Given the description of an element on the screen output the (x, y) to click on. 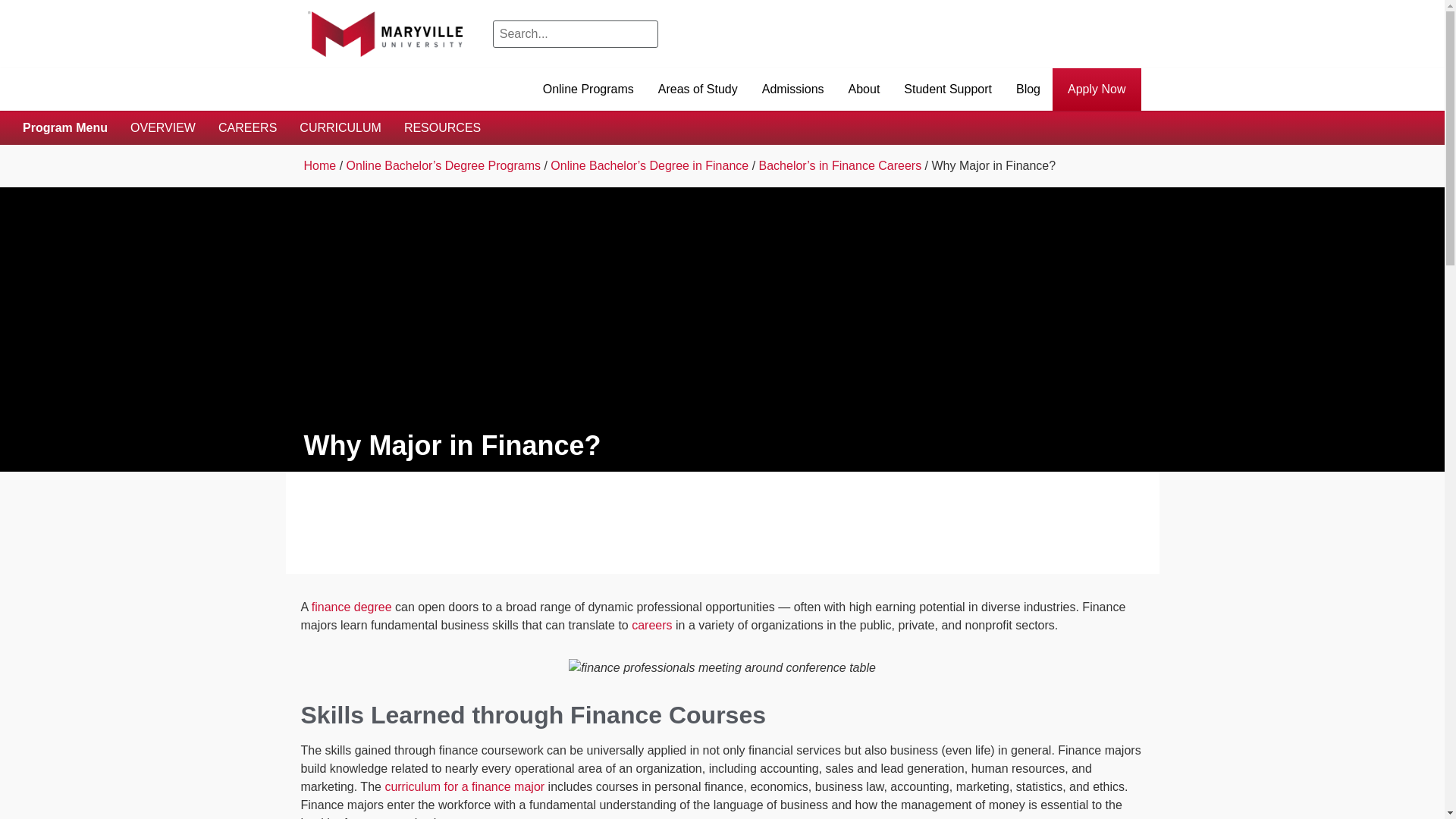
Student Support (947, 88)
About (863, 88)
Online Programs (588, 88)
Areas of Study (697, 88)
Admissions (792, 88)
